Given the description of an element on the screen output the (x, y) to click on. 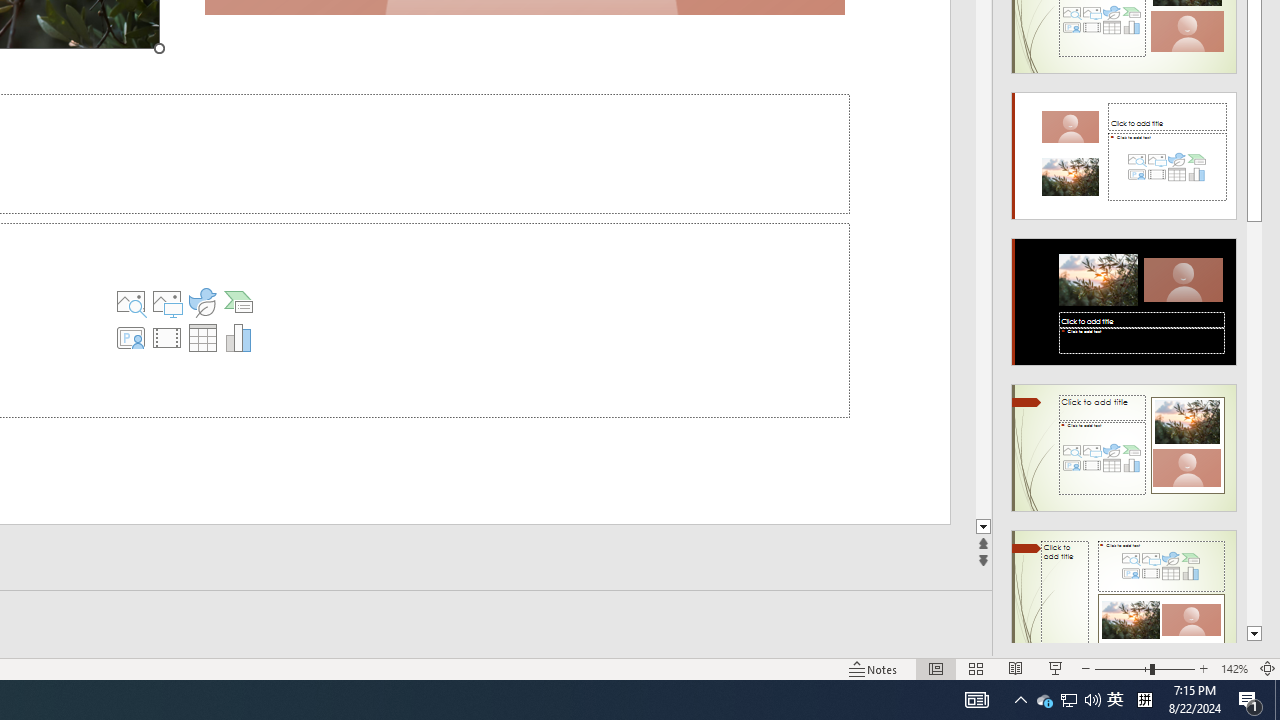
Insert a SmartArt Graphic (238, 301)
Insert Video (167, 337)
